Given the description of an element on the screen output the (x, y) to click on. 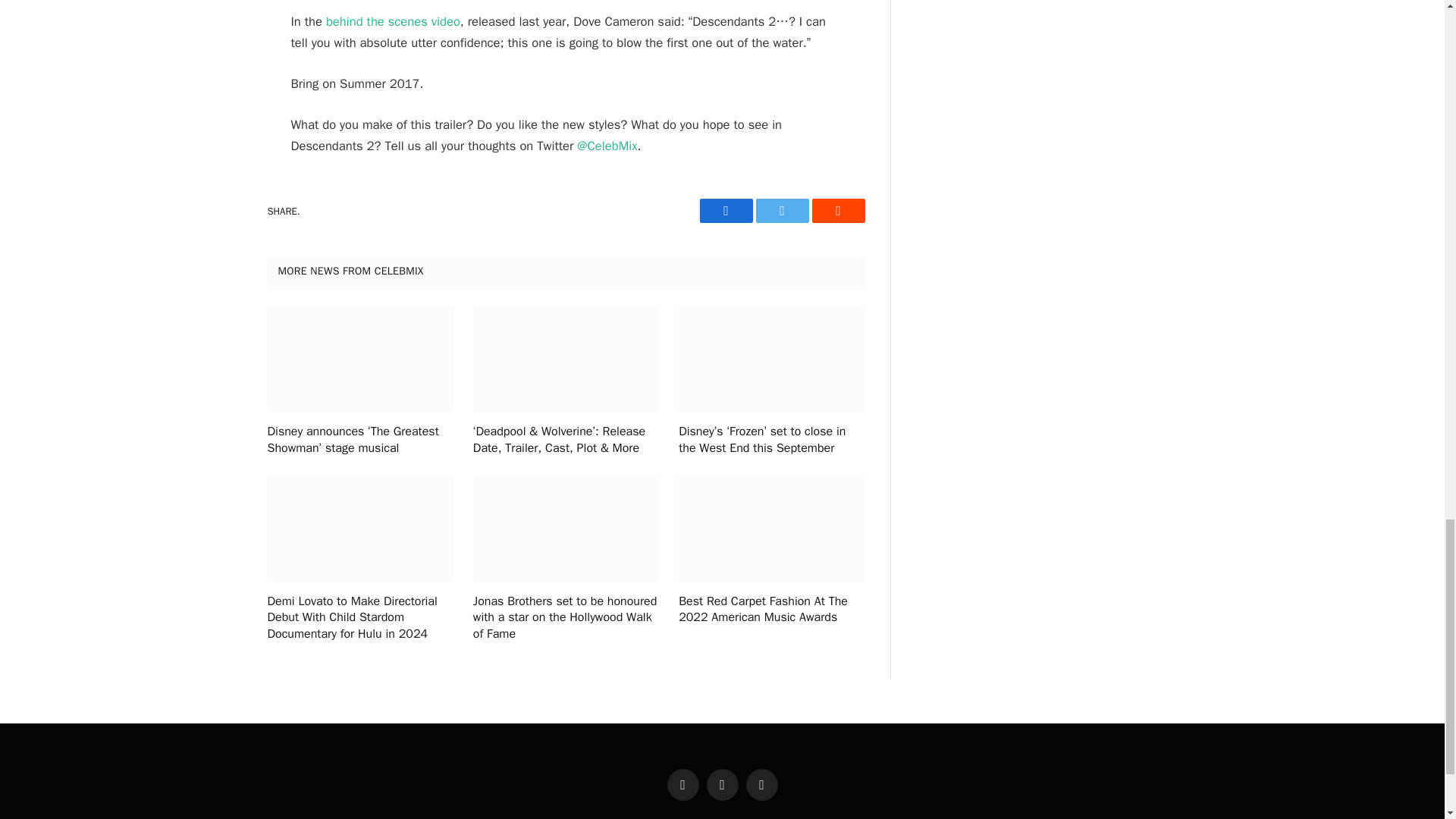
Facebook (725, 210)
Reddit (837, 210)
Twitter (781, 210)
behind the scenes video (393, 21)
